Given the description of an element on the screen output the (x, y) to click on. 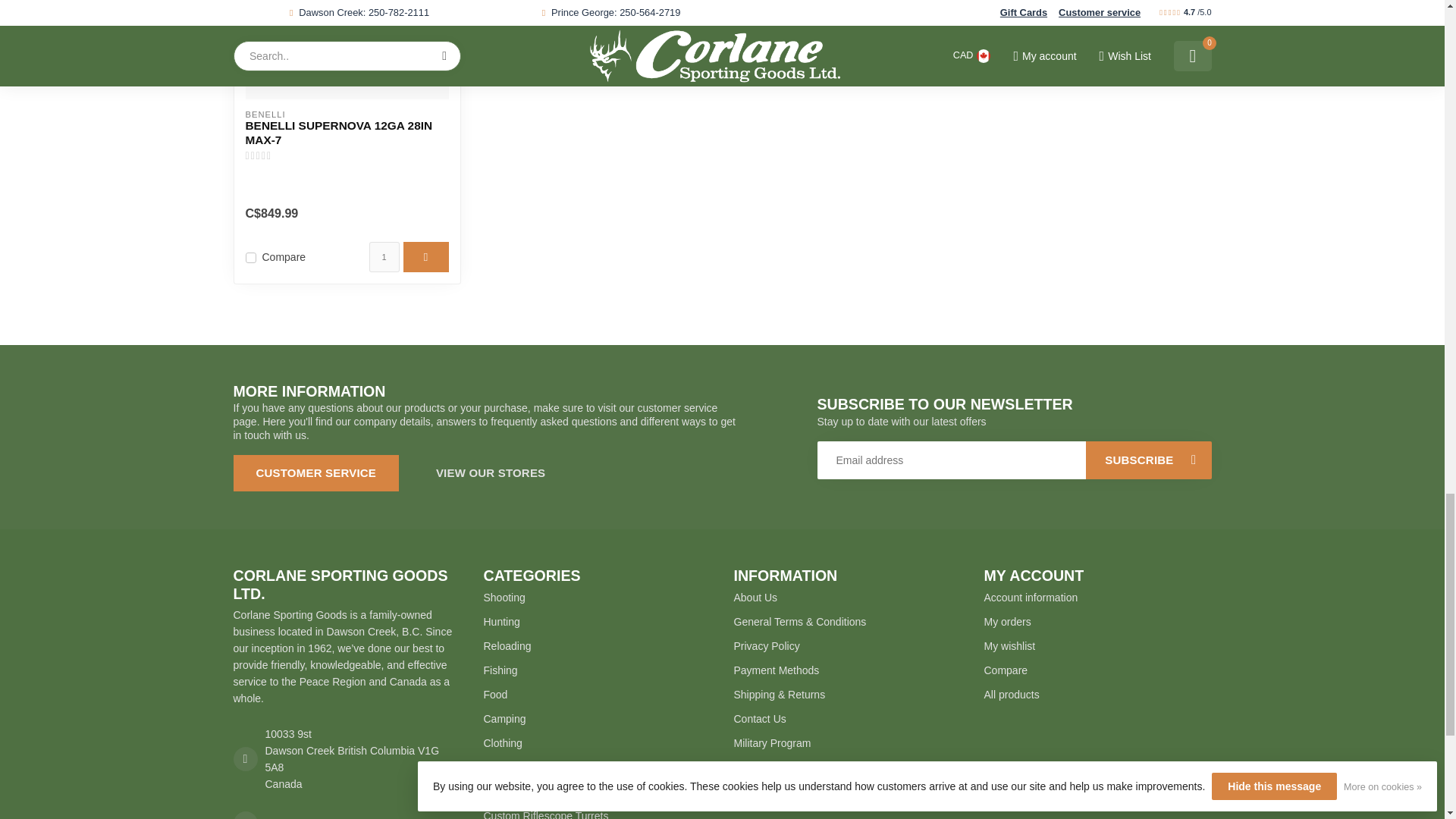
Military Program (846, 743)
Payment Methods (846, 670)
Privacy Policy (846, 645)
1 (383, 256)
Contact Us (846, 718)
About Us (846, 597)
Benelli Benelli SuperNova 12ga 28in MAX-7 (347, 132)
Benelli Benelli SuperNova 12ga 28in MAX-7 (347, 49)
